Given the description of an element on the screen output the (x, y) to click on. 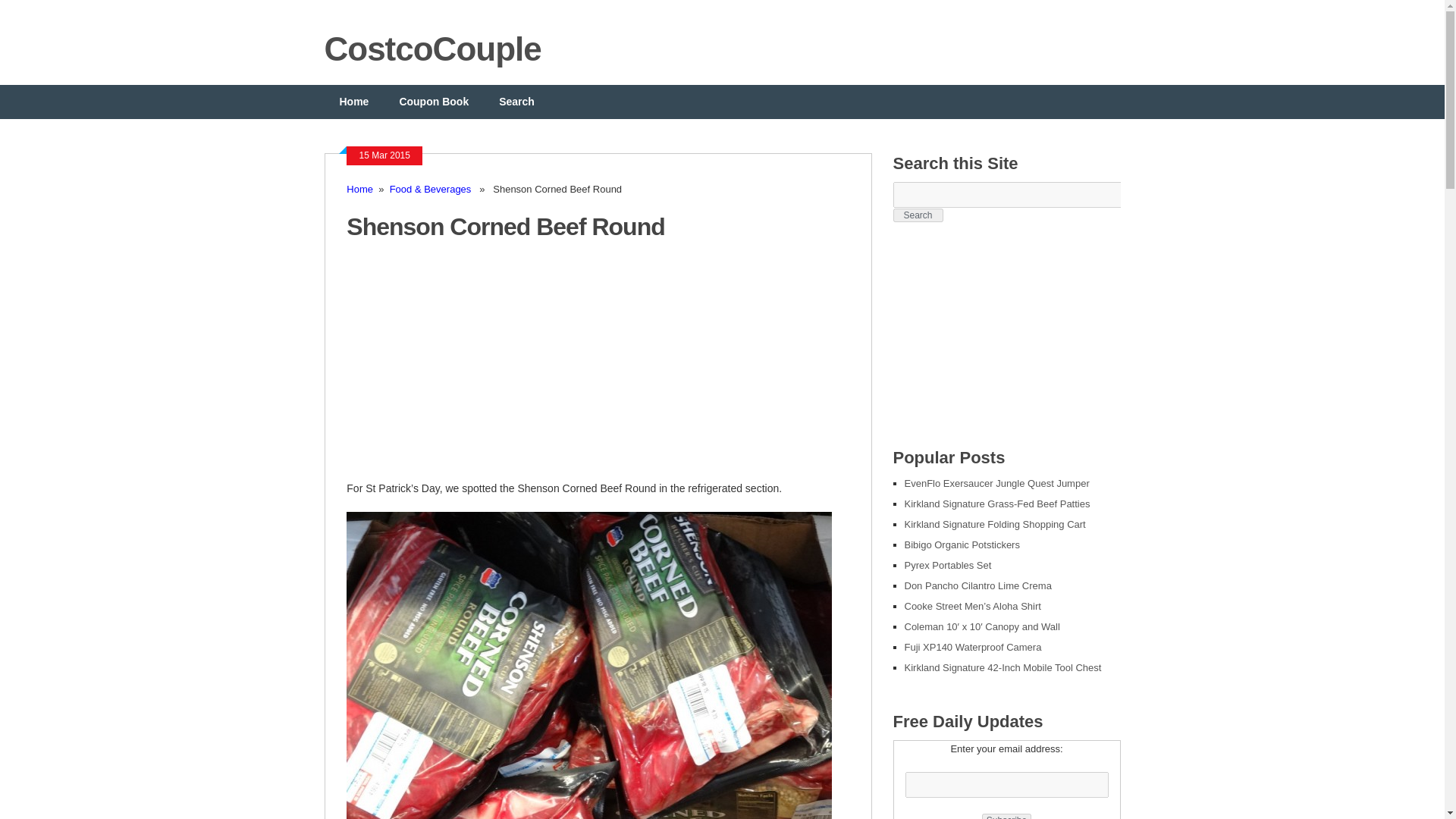
Kirkland Signature Grass-Fed Beef Patties (996, 503)
Don Pancho Cilantro Lime Crema (977, 585)
Fuji XP140 Waterproof Camera (972, 646)
Advertisement (473, 368)
Kirkland Signature Folding Shopping Cart (994, 523)
Coupon Book (433, 101)
Subscribe (1005, 816)
Home (359, 188)
Search (516, 101)
Search (918, 214)
Home (354, 101)
EvenFlo Exersaucer Jungle Quest Jumper (996, 482)
Kirkland Signature 42-Inch Mobile Tool Chest (1002, 667)
Bibigo Organic Potstickers (961, 544)
Search (918, 214)
